Given the description of an element on the screen output the (x, y) to click on. 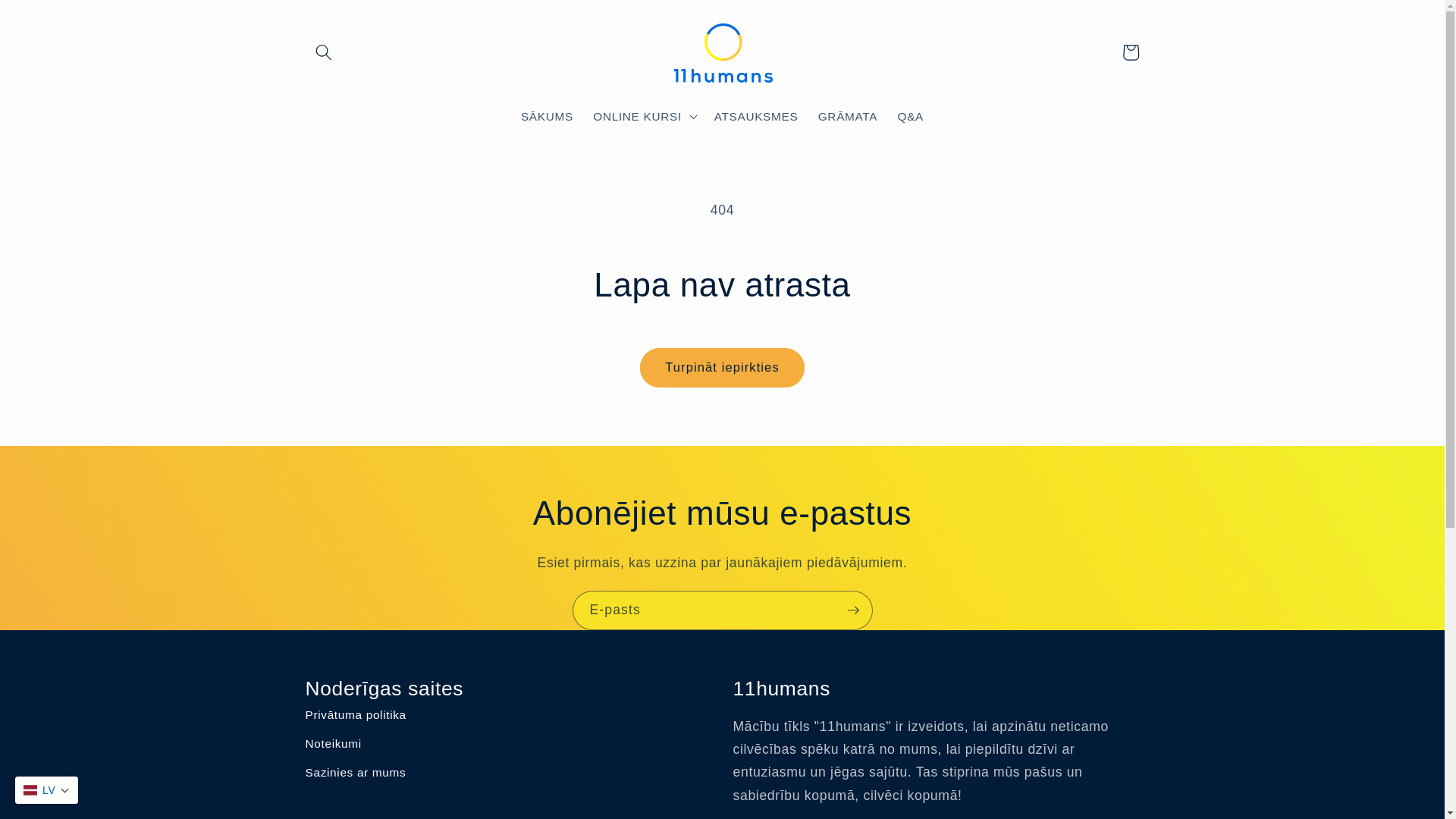
ATSAUKSMES Element type: text (756, 116)
Noteikumi Element type: text (507, 744)
Sazinies ar mums Element type: text (507, 772)
Q&A Element type: text (910, 116)
